Given the description of an element on the screen output the (x, y) to click on. 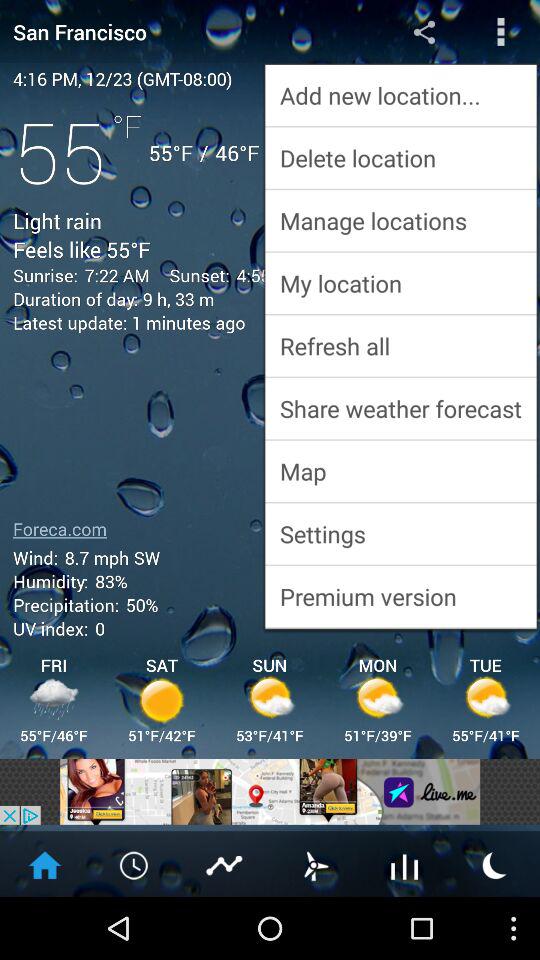
jump to map (400, 470)
